Given the description of an element on the screen output the (x, y) to click on. 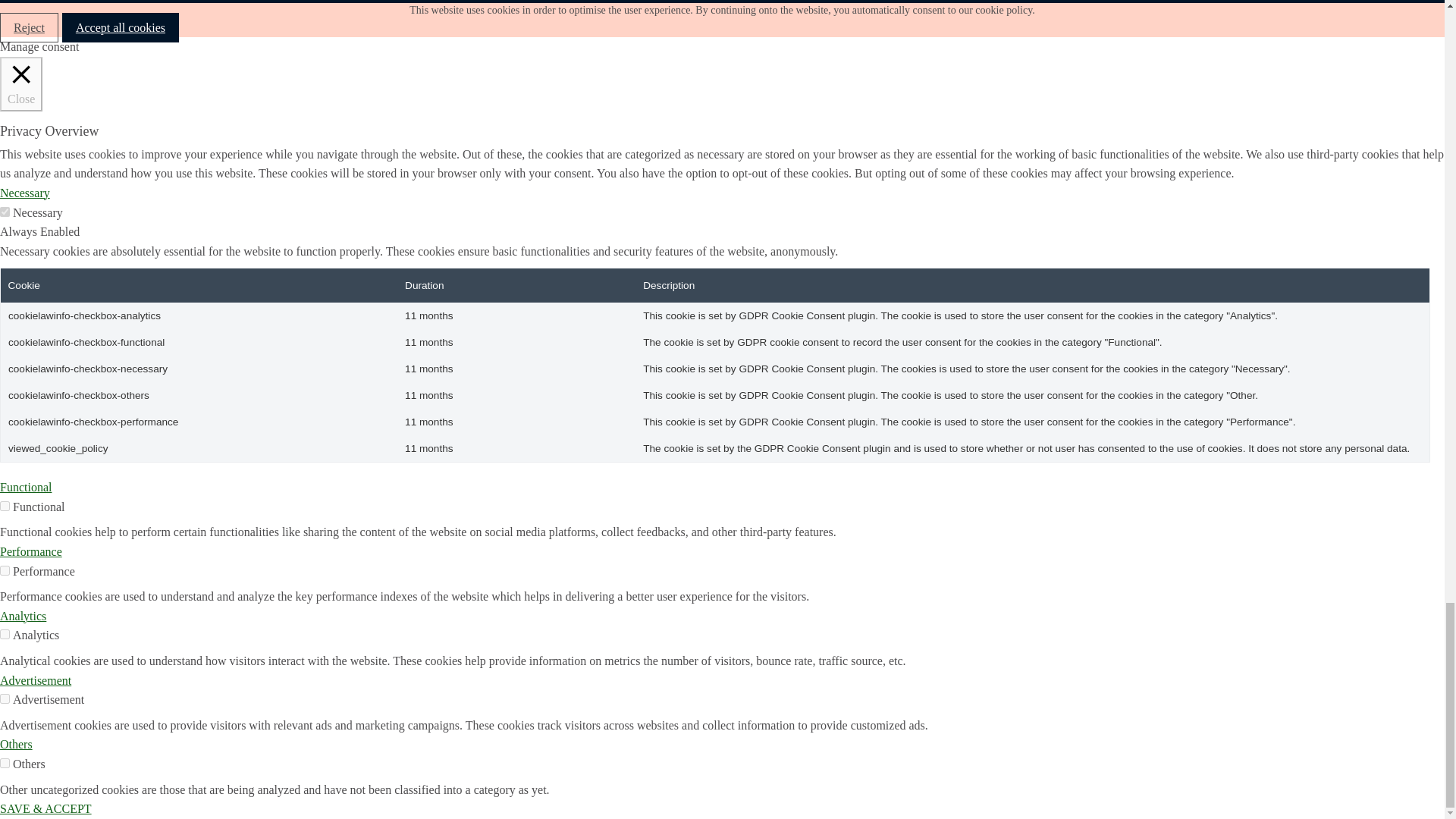
on (5, 634)
on (5, 570)
on (5, 506)
on (5, 763)
on (5, 212)
on (5, 698)
